Given the description of an element on the screen output the (x, y) to click on. 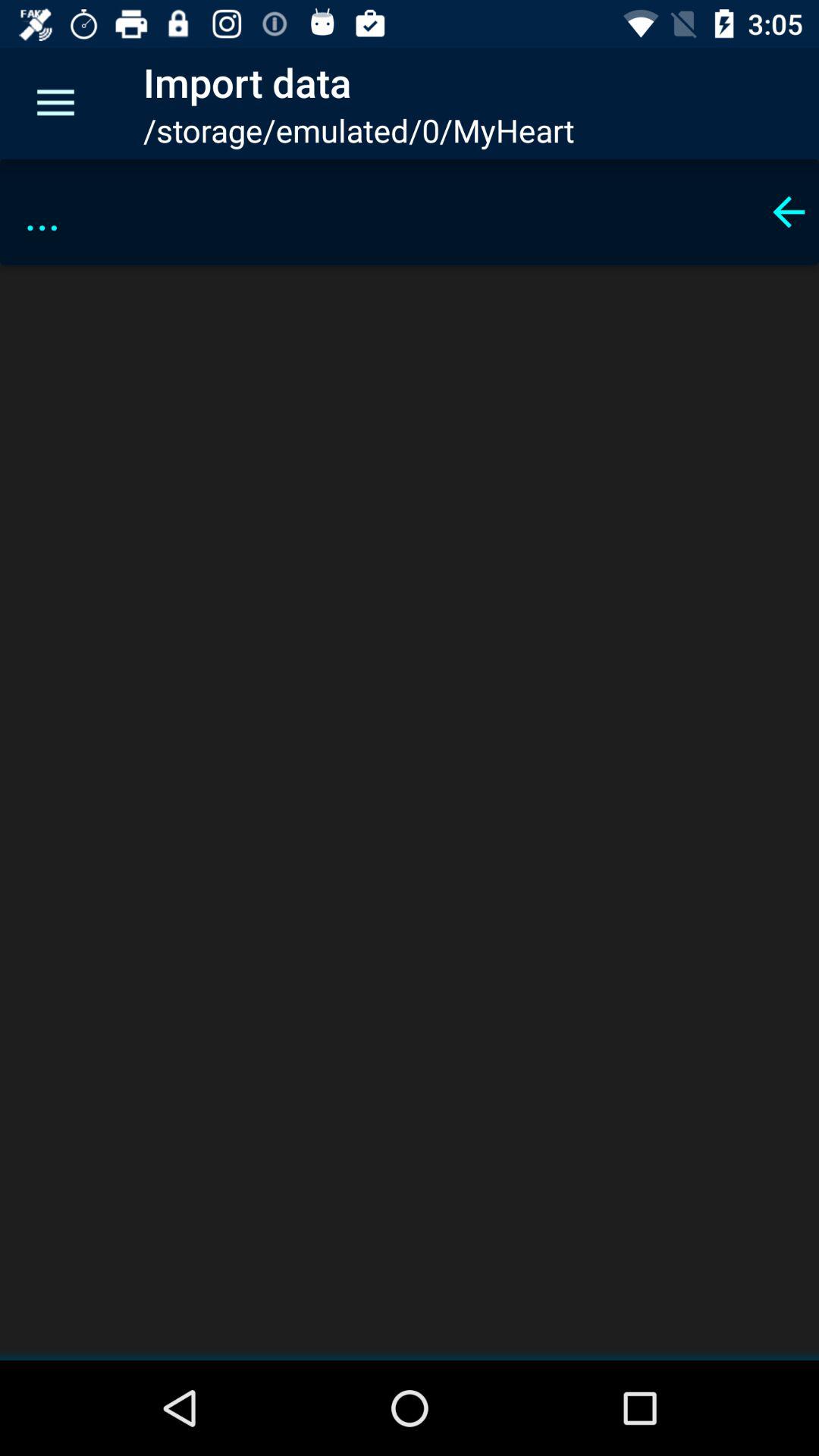
launch the icon to the left of import data item (55, 103)
